Given the description of an element on the screen output the (x, y) to click on. 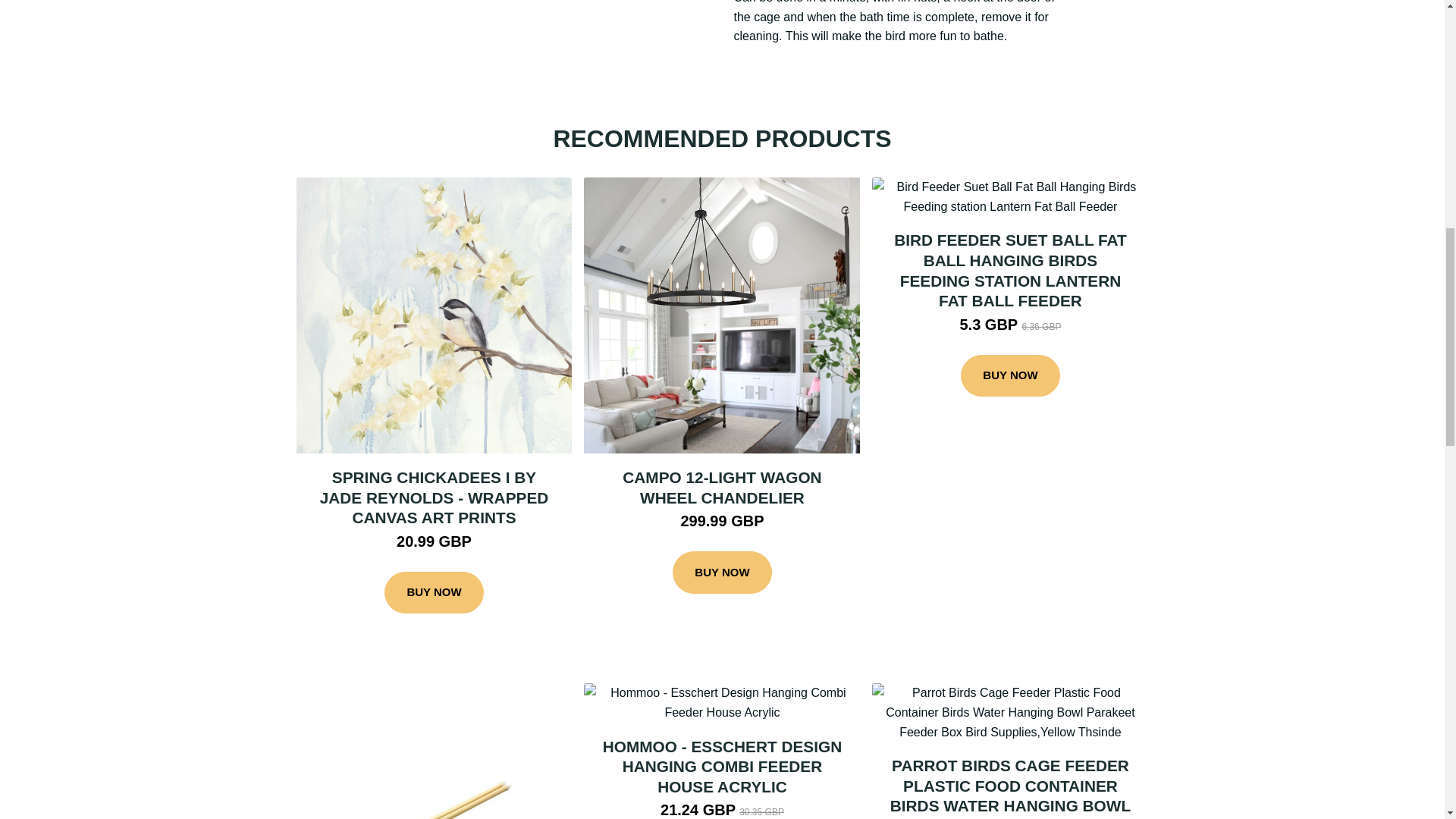
BUY NOW (721, 572)
BUY NOW (433, 592)
BUY NOW (1009, 375)
HOMMOO - ESSCHERT DESIGN HANGING COMBI FEEDER HOUSE ACRYLIC (721, 766)
CAMPO 12-LIGHT WAGON WHEEL CHANDELIER (722, 487)
